Given the description of an element on the screen output the (x, y) to click on. 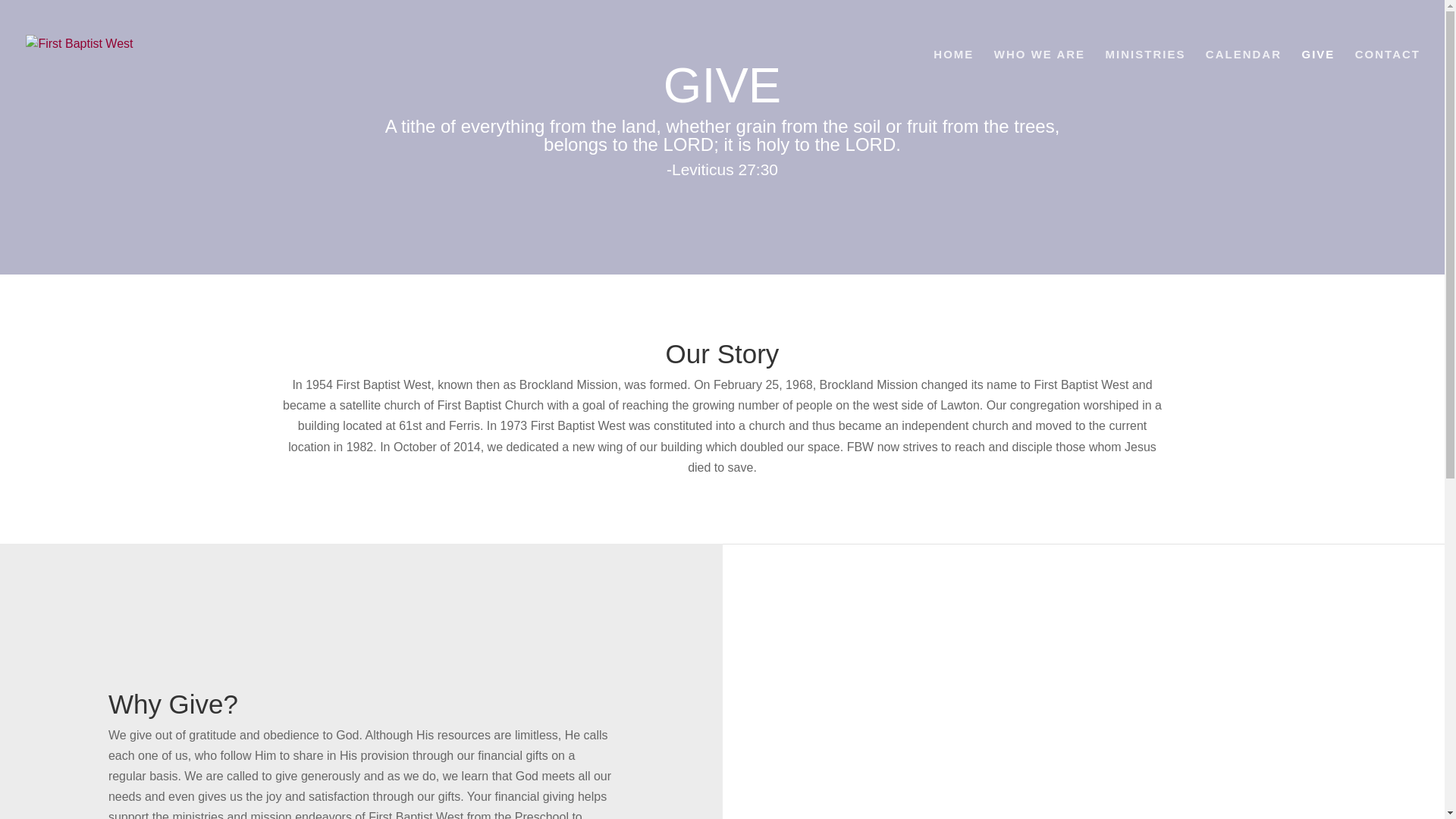
CONTACT (1388, 78)
CALENDAR (1243, 78)
GIVE (1318, 78)
WHO WE ARE (1039, 78)
HOME (953, 78)
MINISTRIES (1145, 78)
